Given the description of an element on the screen output the (x, y) to click on. 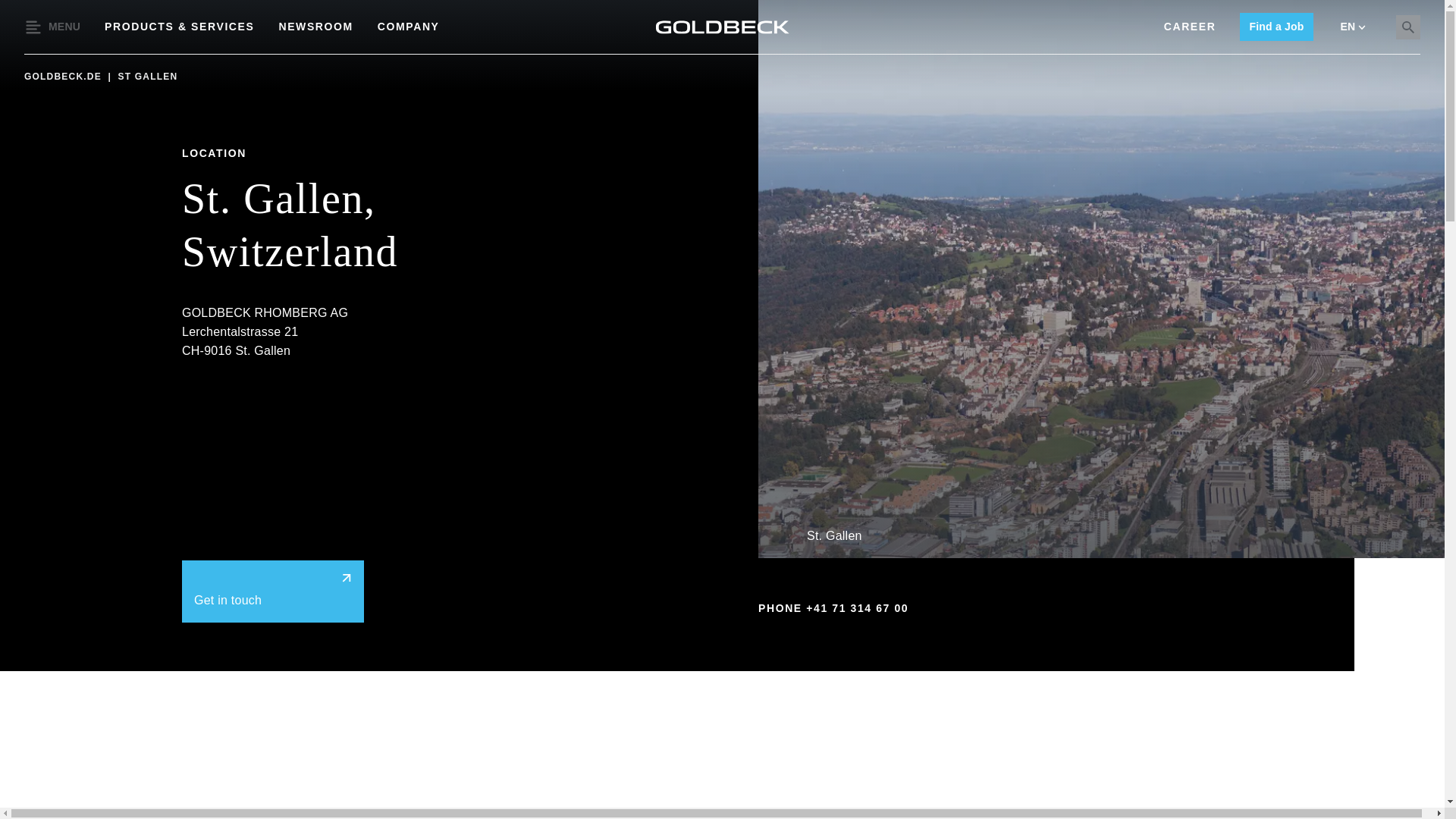
Get in touch (273, 591)
COMPANY (408, 27)
CAREER (1189, 27)
Find a Job (1276, 27)
EN (1353, 26)
GOLDBECK.DE (64, 76)
MENU (52, 27)
NEWSROOM (315, 27)
